Given the description of an element on the screen output the (x, y) to click on. 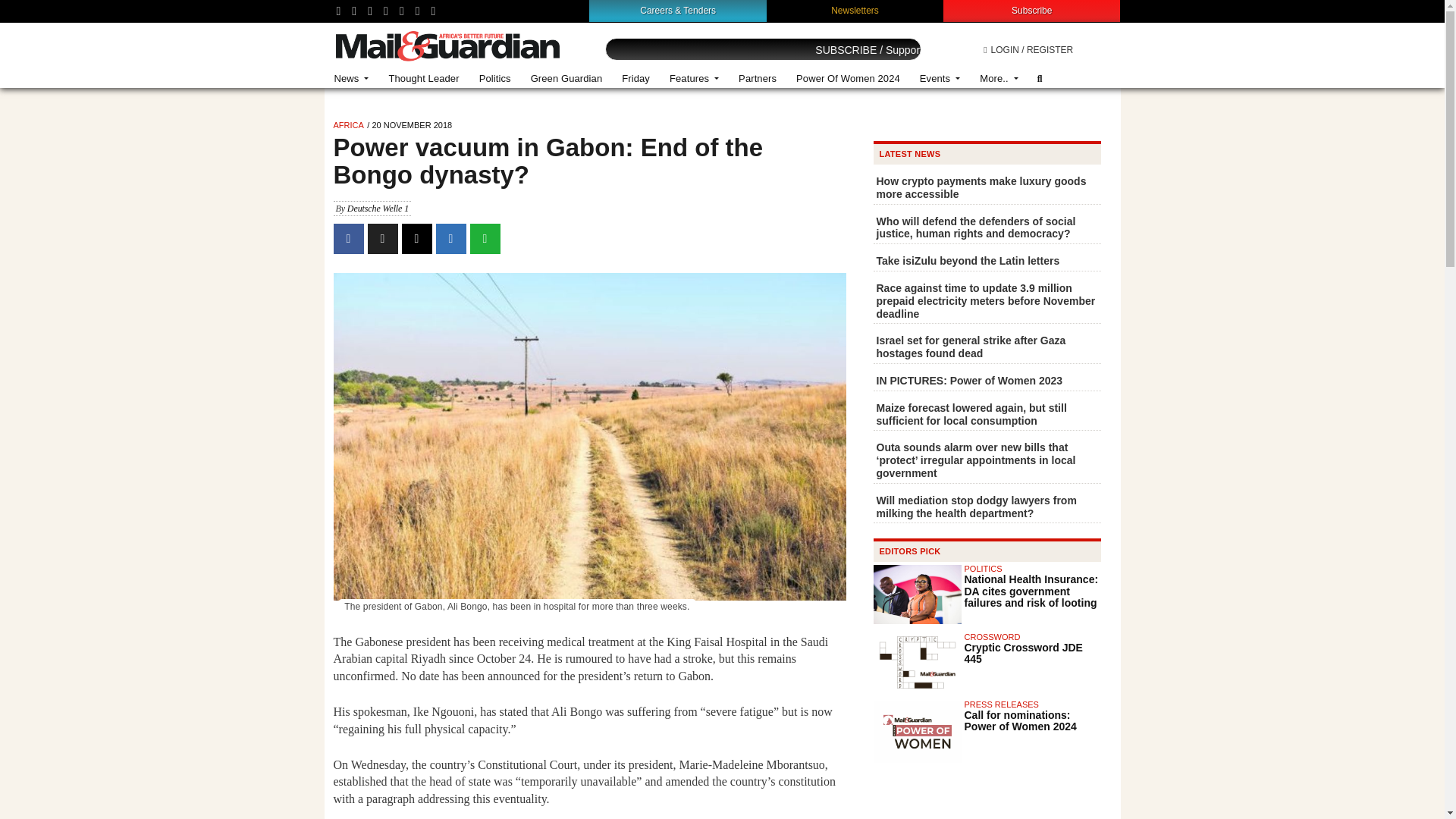
Friday (635, 78)
Features (694, 78)
Green Guardian (566, 78)
Thought Leader (423, 78)
Politics (494, 78)
News (351, 78)
Subscribe (1031, 9)
News (351, 78)
Newsletters (855, 9)
